Given the description of an element on the screen output the (x, y) to click on. 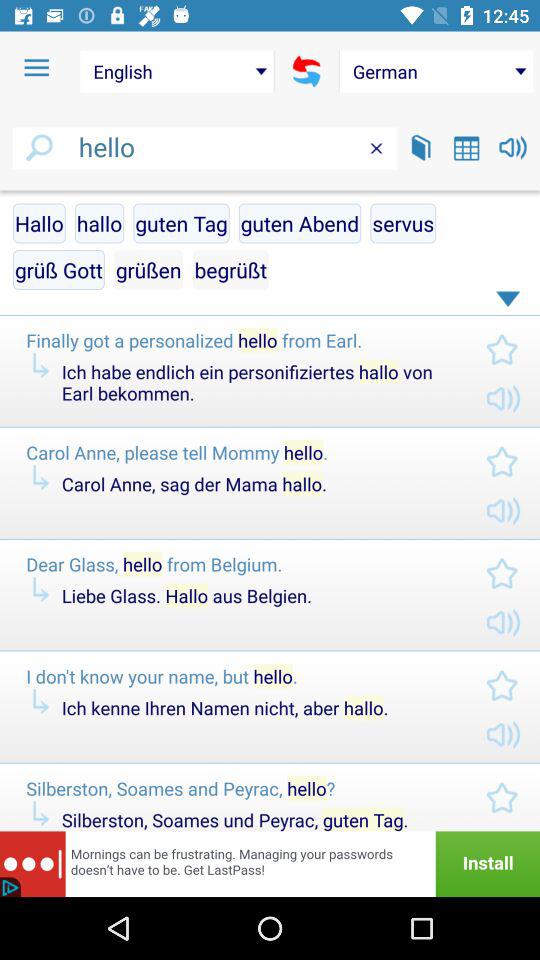
switches from and to language (306, 71)
